Given the description of an element on the screen output the (x, y) to click on. 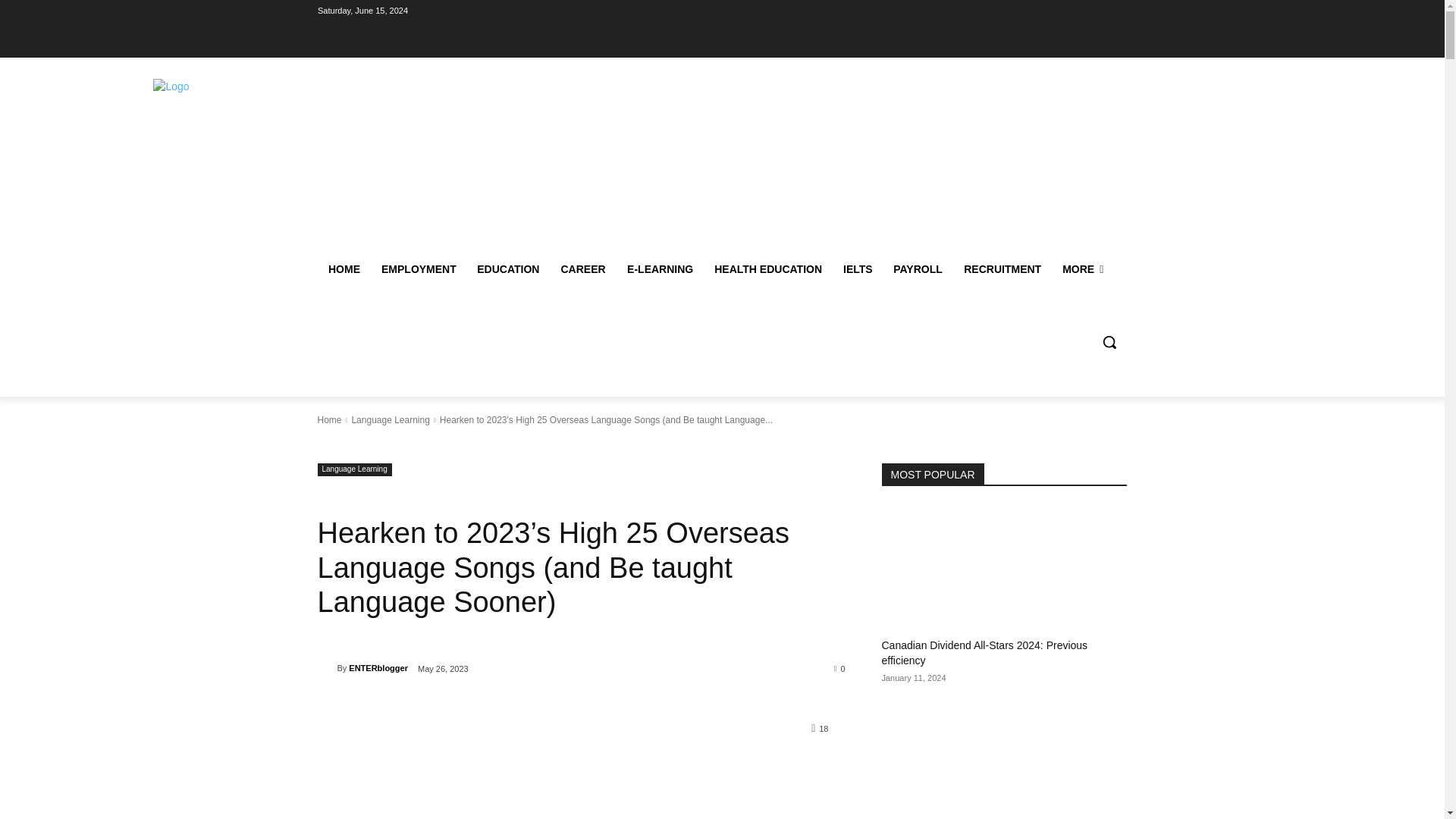
HOME (343, 268)
ENTERblogger (326, 667)
View all posts in Language Learning (389, 419)
EMPLOYMENT (417, 268)
